Given the description of an element on the screen output the (x, y) to click on. 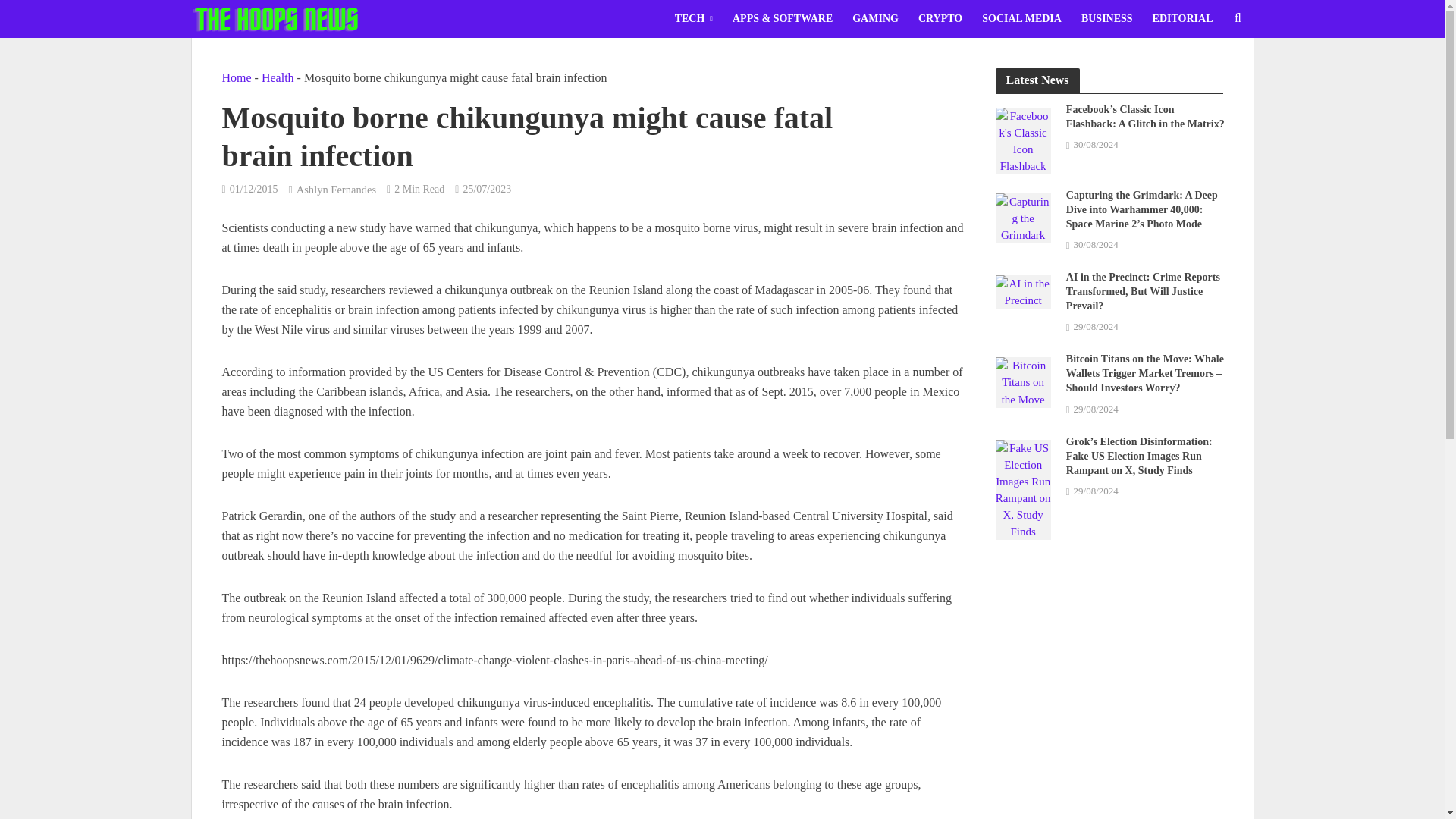
SOCIAL MEDIA (1021, 18)
EDITORIAL (1182, 18)
Health (278, 77)
TECH (693, 18)
GAMING (875, 18)
Home (235, 77)
BUSINESS (1106, 18)
